Given the description of an element on the screen output the (x, y) to click on. 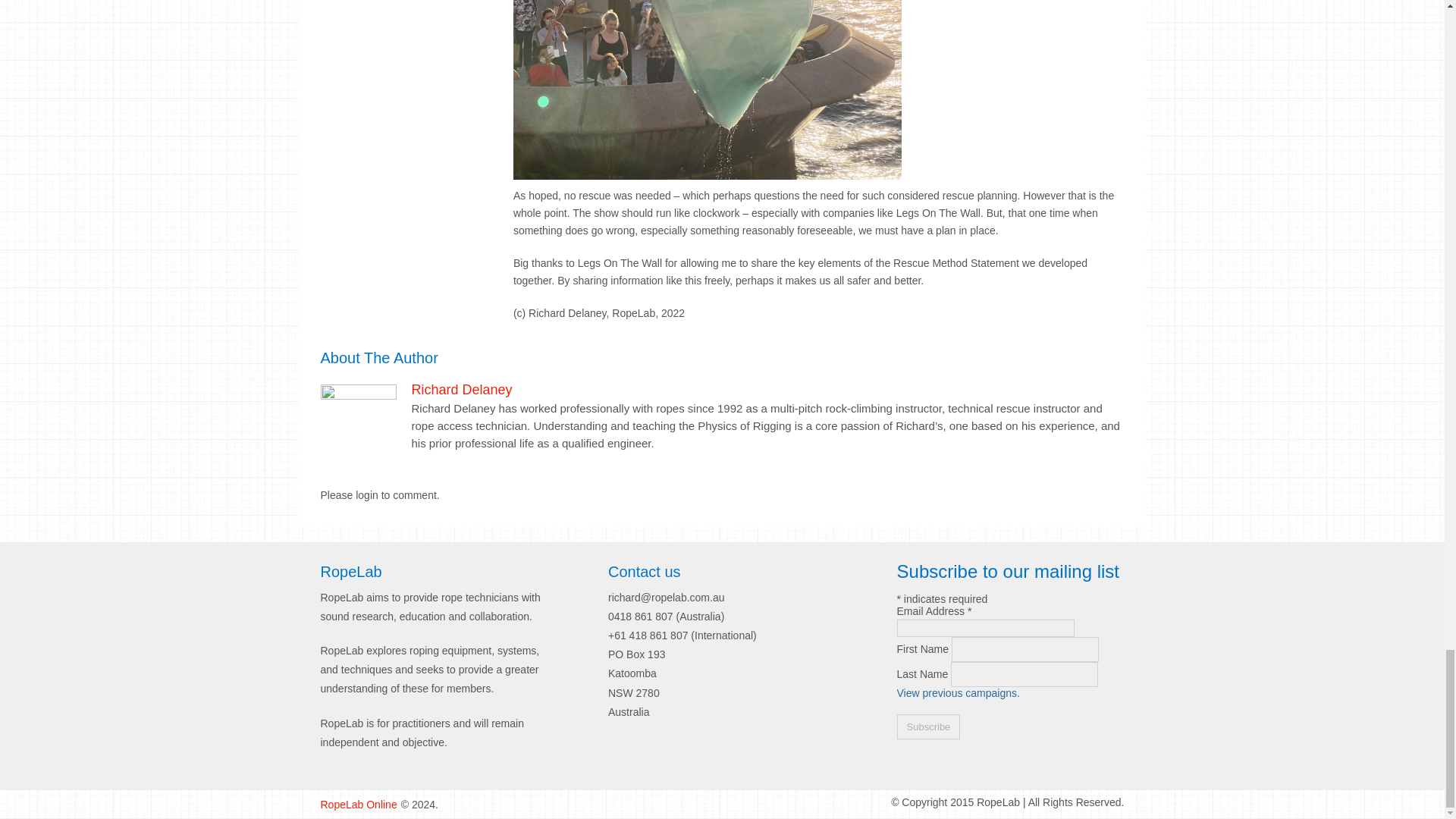
Subscribe (928, 726)
